Given the description of an element on the screen output the (x, y) to click on. 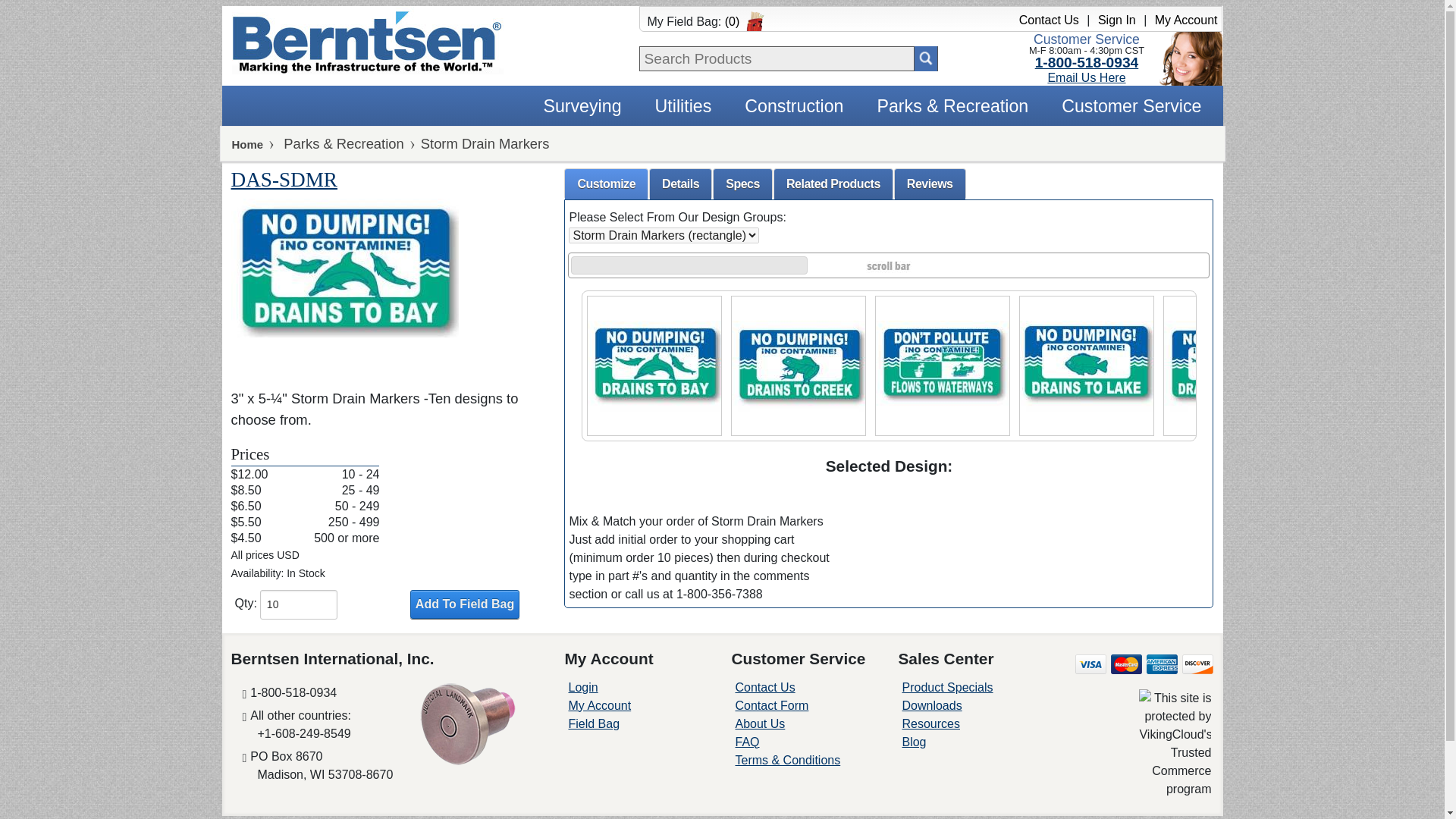
Search Products (925, 58)
DASNDB - No Dumping Drains to Bay (654, 362)
Clear search text (907, 57)
DASNDL - No Dumping Drains to Lake (1086, 362)
Email Us Here (1085, 77)
Contact Us (1048, 20)
Berntsen International, Inc. (367, 38)
DASNDO - No Dumping Drains to Ocean (1230, 362)
Login (581, 686)
DASNDF - Don't Pollute Flows to Waterways (942, 362)
